Given the description of an element on the screen output the (x, y) to click on. 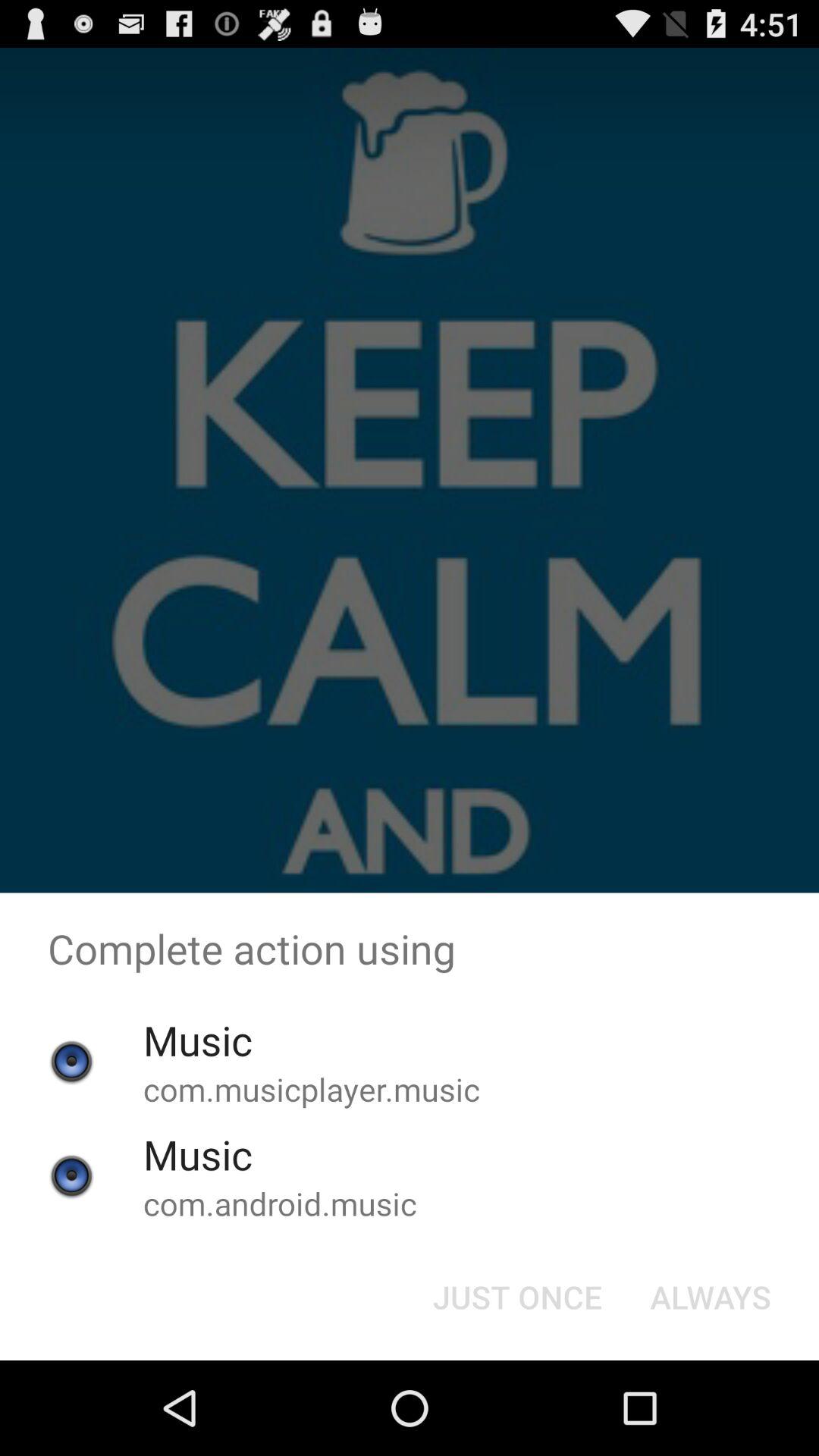
swipe until the just once button (517, 1296)
